Given the description of an element on the screen output the (x, y) to click on. 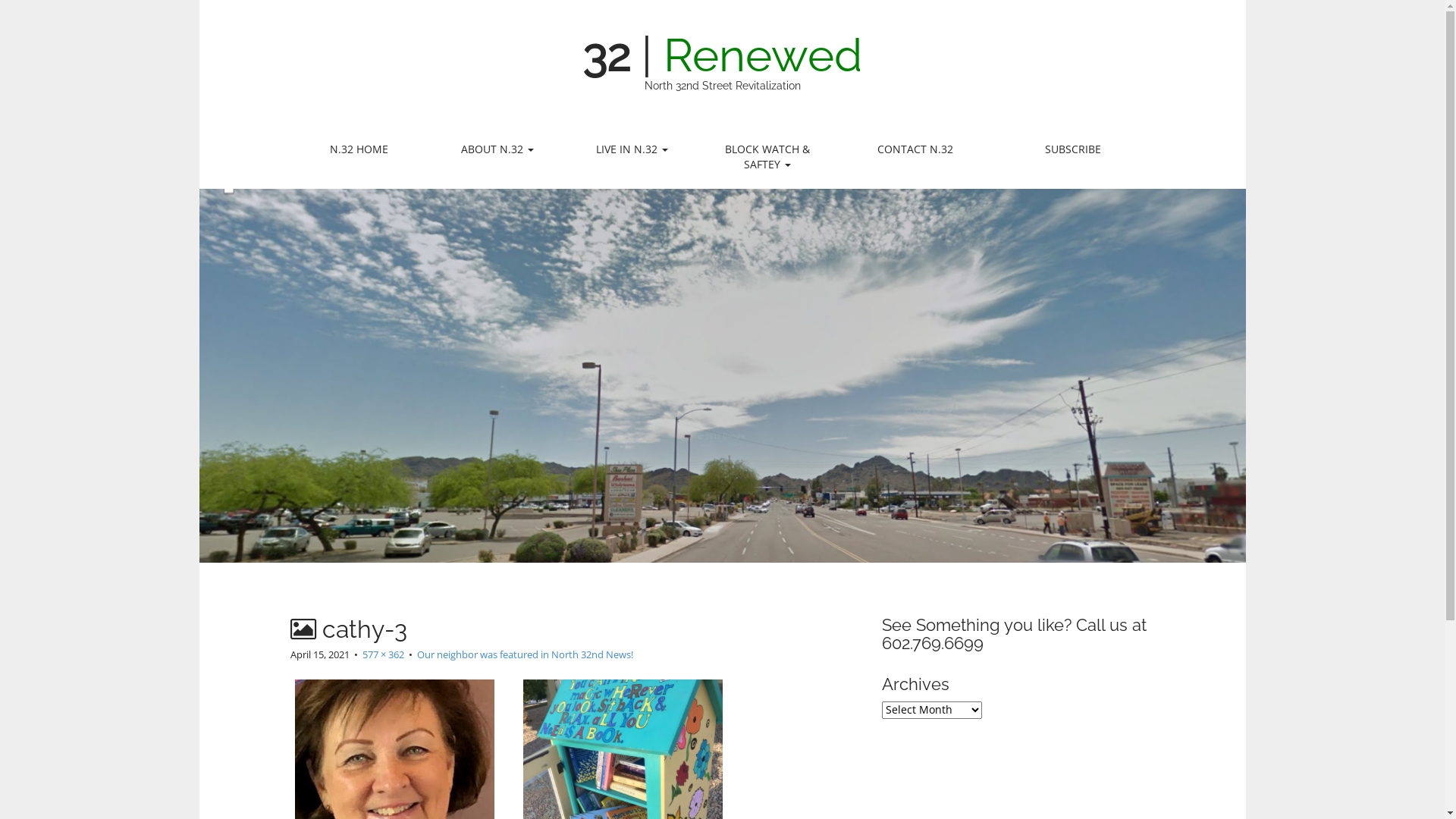
ABOUT N.32 Element type: text (497, 149)
CONTACT N.32 Element type: text (915, 149)
Skip to content Element type: text (289, 136)
BLOCK WATCH & SAFTEY Element type: text (766, 156)
LIVE IN N.32 Element type: text (631, 149)
SUBSCRIBE Element type: text (1072, 149)
Our neighbor was featured in North 32nd News! Element type: text (525, 654)
32 | Renewed Element type: text (722, 54)
N.32 HOME Element type: text (359, 149)
